Given the description of an element on the screen output the (x, y) to click on. 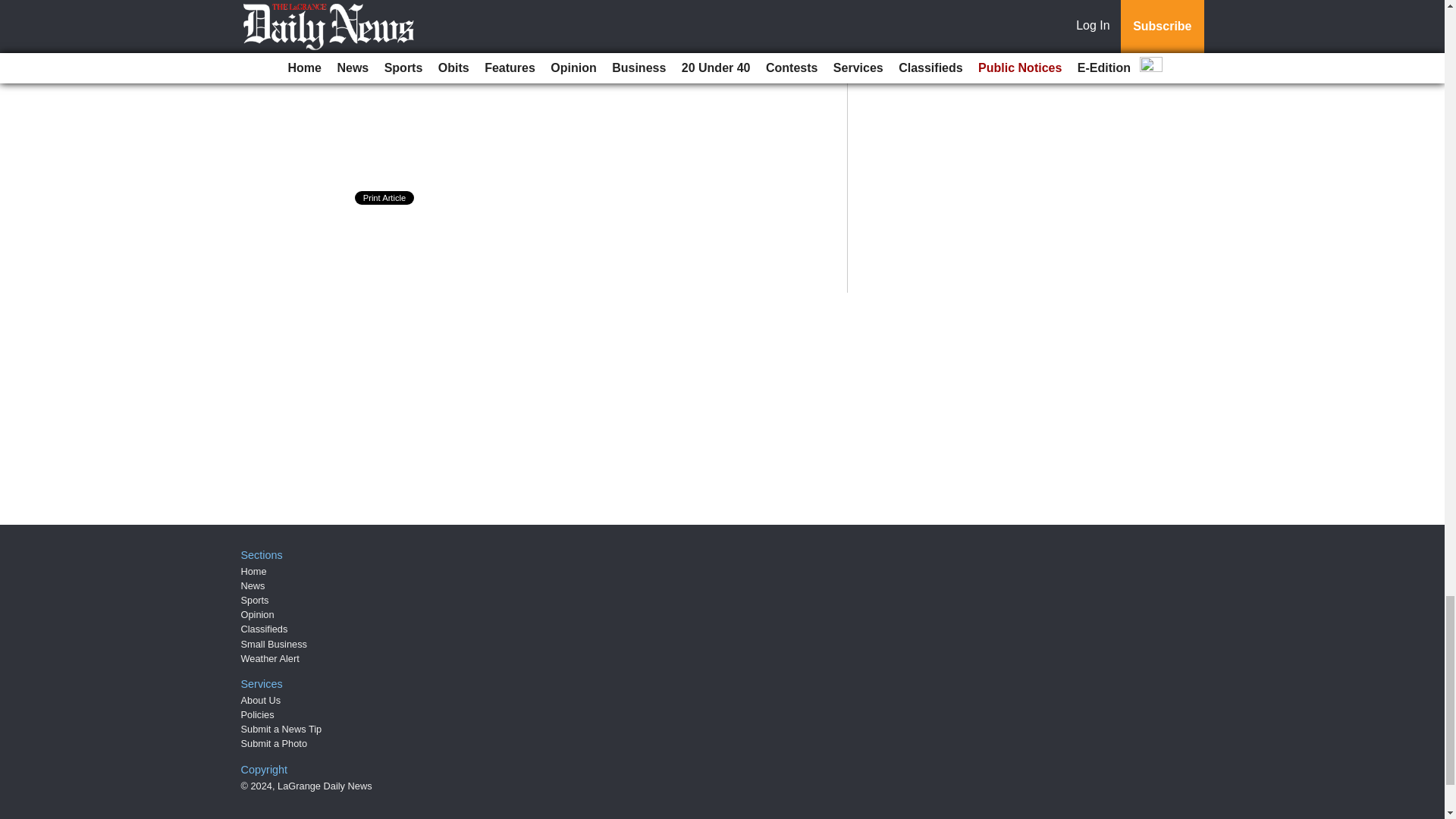
20 UNDER 40: Kristopher Nelson (495, 65)
20 UNDER 40: Kristopher Nelson (495, 65)
PHOTOS: Gabby Barrett and Maddox Batson pack out Sweetland (565, 11)
Home (253, 571)
PHOTOS: Gabby Barrett and Maddox Batson pack out Sweetland (565, 11)
Print Article (384, 197)
